Given the description of an element on the screen output the (x, y) to click on. 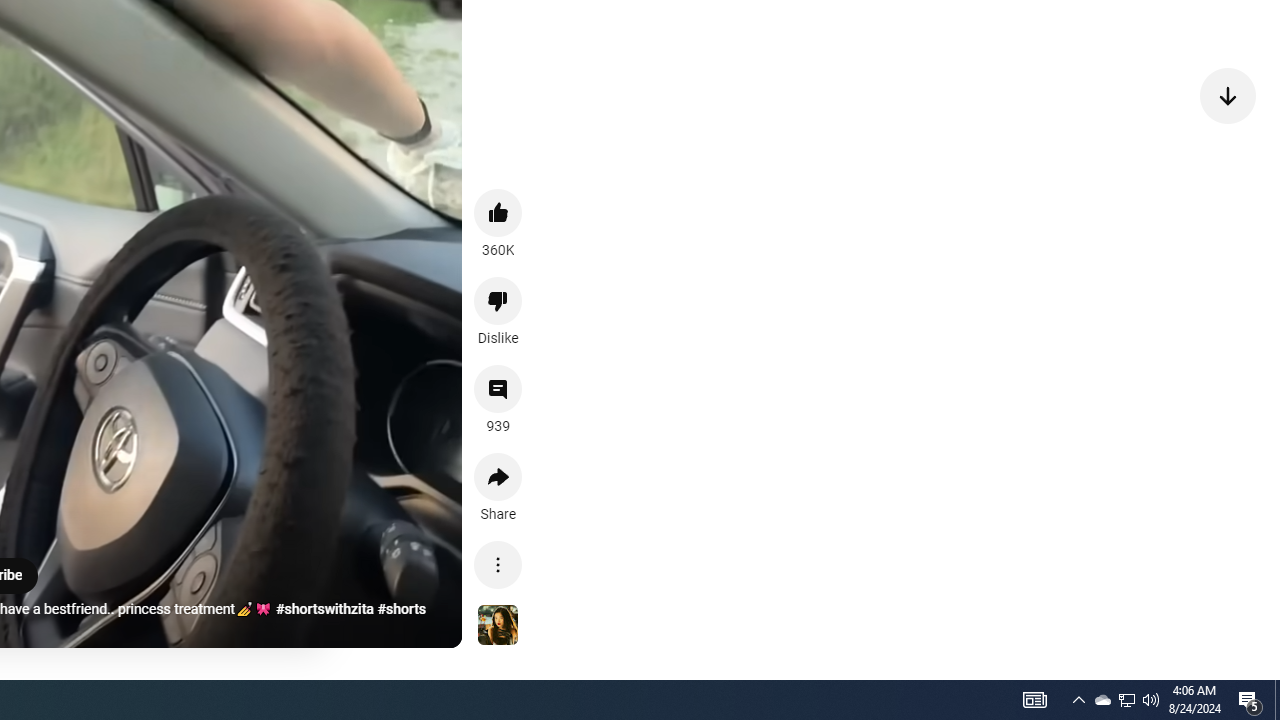
Dislike this video (498, 300)
Next video (1227, 94)
like this video along with 360K other people (498, 212)
See more videos using this sound (497, 626)
#shortswithzita (324, 609)
More actions (498, 564)
#shorts (402, 609)
View 939 comments (498, 389)
Share (498, 476)
